Given the description of an element on the screen output the (x, y) to click on. 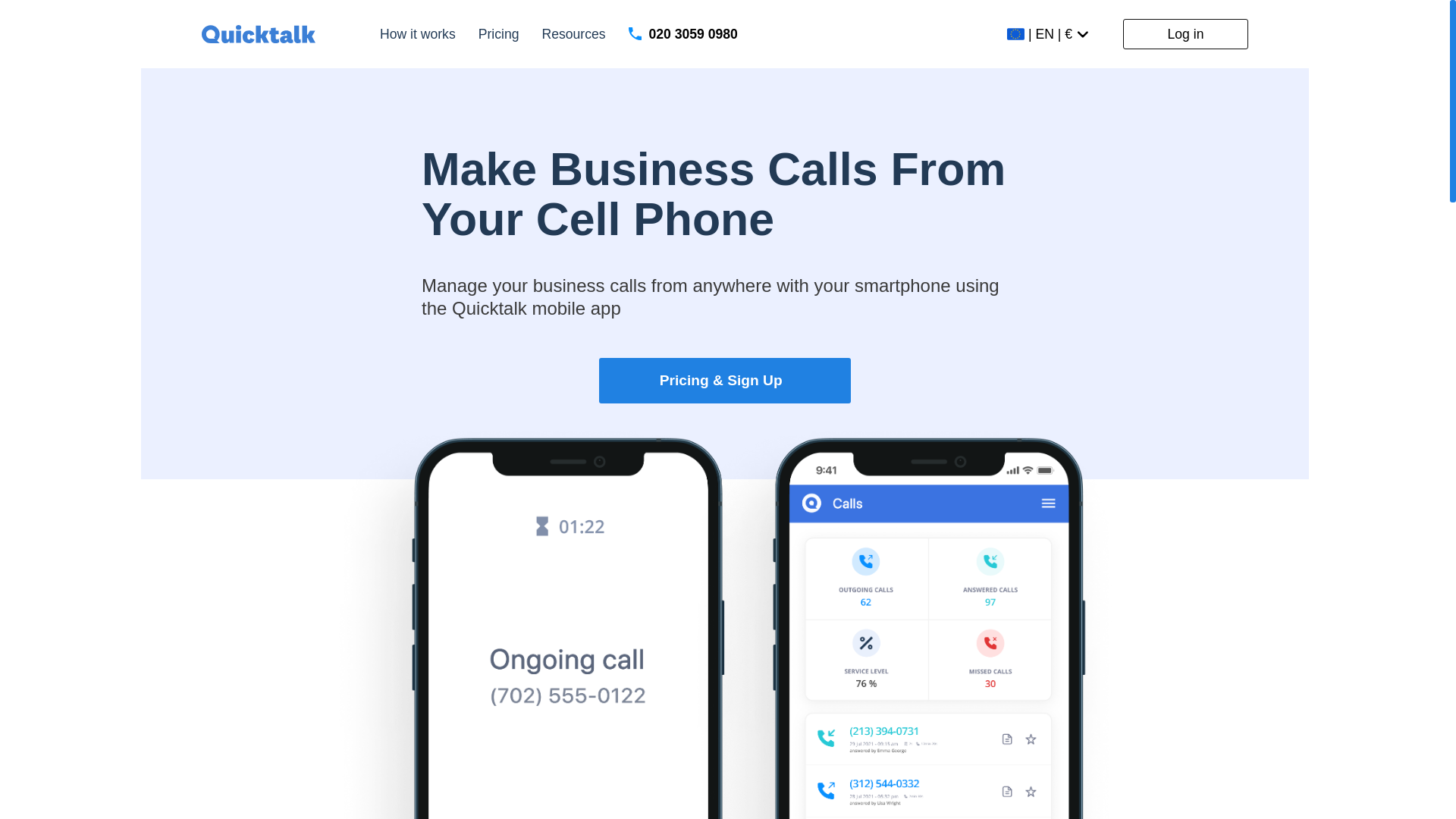
Resources (573, 35)
Pricing (499, 35)
How it works (417, 35)
Log in (1184, 33)
020 3059 0980 (683, 33)
